Given the description of an element on the screen output the (x, y) to click on. 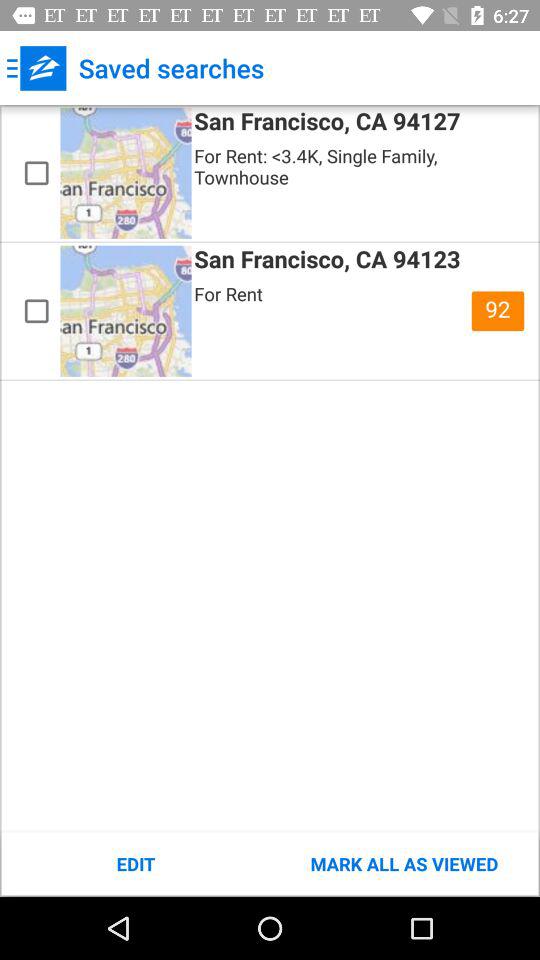
select search (36, 173)
